Given the description of an element on the screen output the (x, y) to click on. 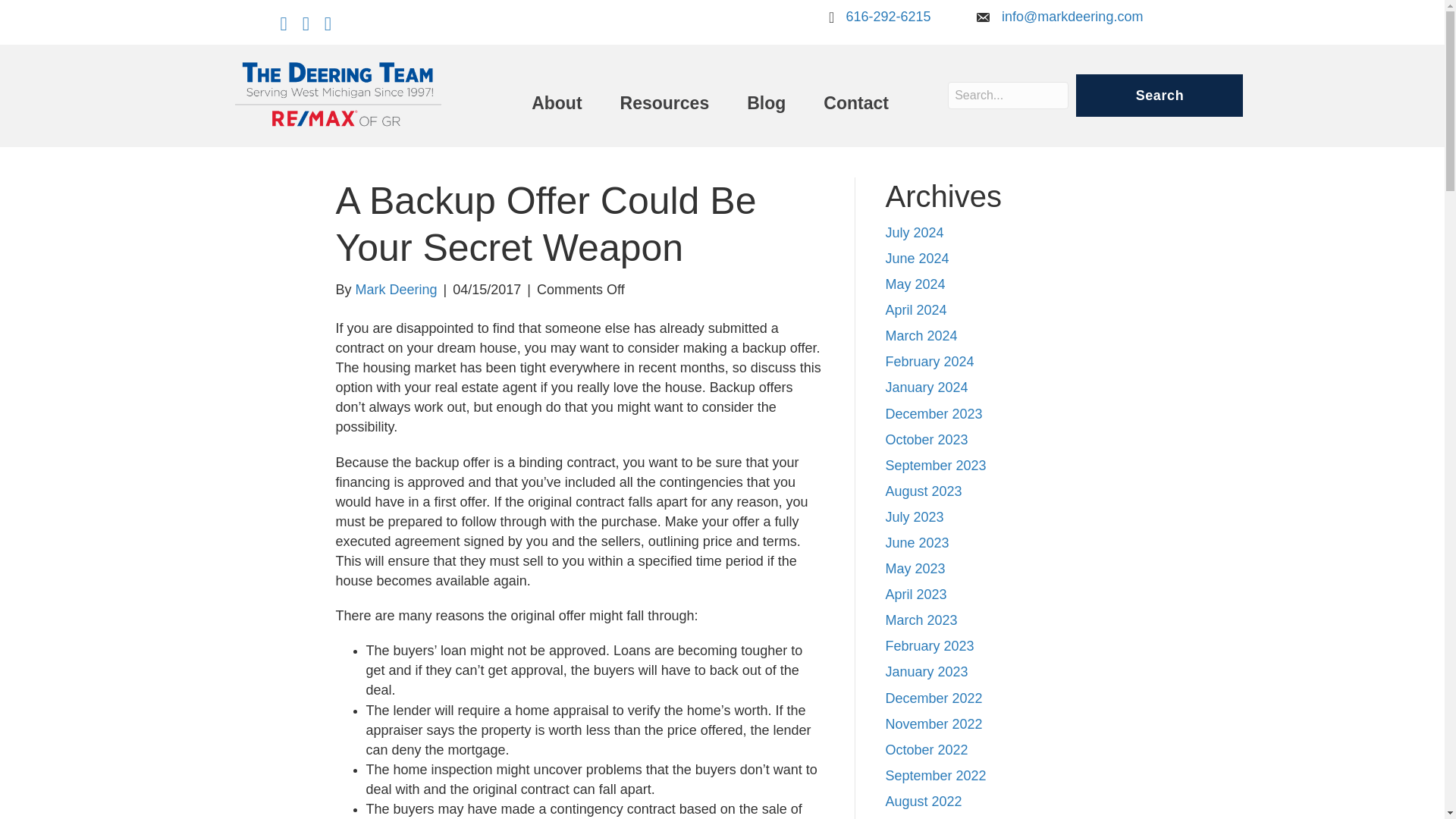
Resources (664, 102)
website logo 2-05 (338, 96)
June 2024 (917, 258)
April 2024 (916, 309)
About (555, 102)
616-292-6215 (887, 16)
Blog (765, 102)
July 2024 (914, 232)
Contact (855, 102)
Search (1159, 95)
Mark Deering (396, 289)
May 2024 (914, 283)
